Given the description of an element on the screen output the (x, y) to click on. 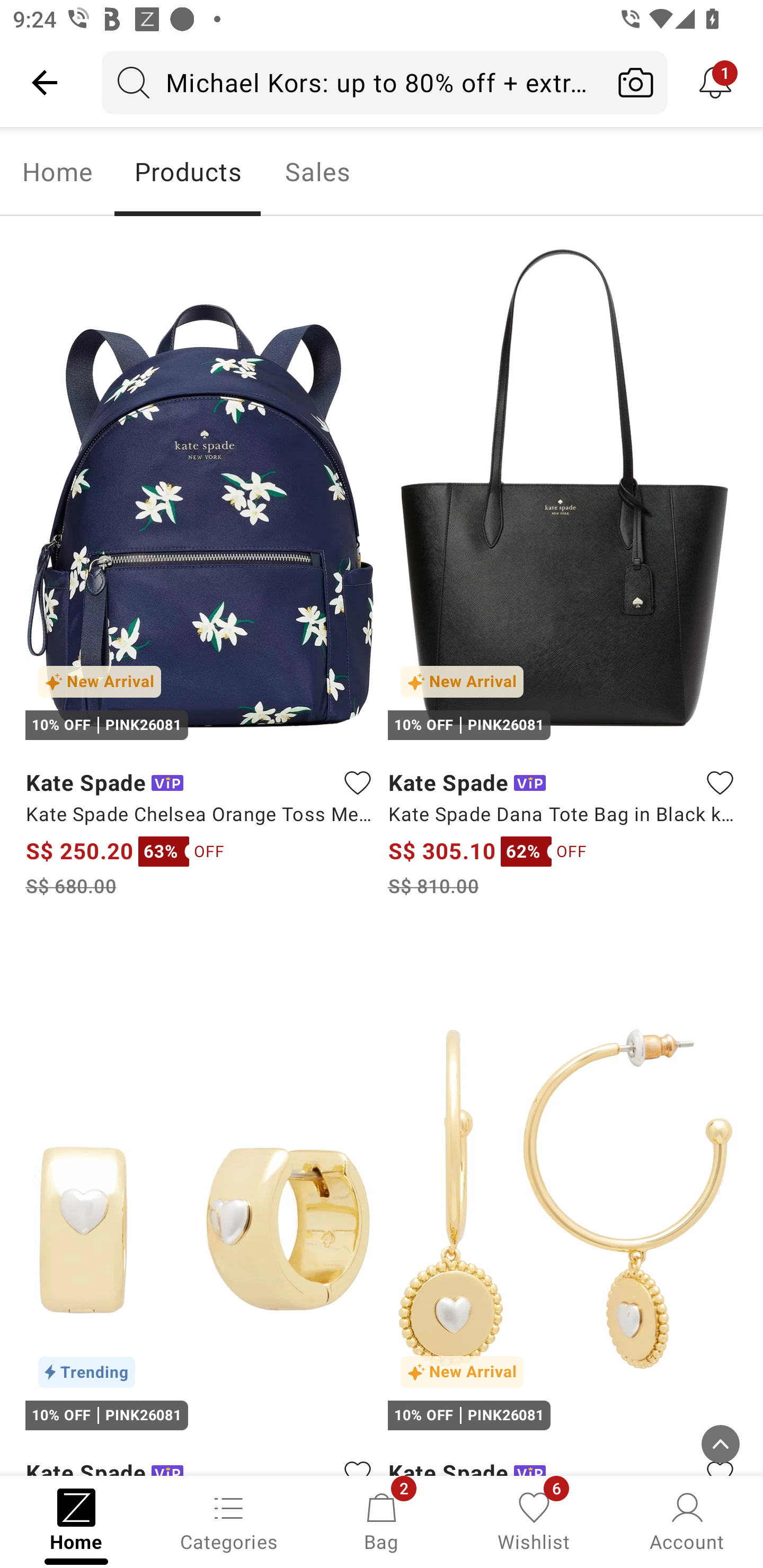
Navigate up (44, 82)
Michael Kors: up to 80% off + extra 40% off (352, 82)
Home (57, 171)
Sales (317, 171)
Trending 10% OFF PINK26081 Kate Spade Brand (200, 1205)
New Arrival 10% OFF PINK26081 Kate Spade Brand (562, 1205)
Categories (228, 1519)
Bag, 2 new notifications Bag (381, 1519)
Wishlist, 6 new notifications Wishlist (533, 1519)
Account (686, 1519)
